Given the description of an element on the screen output the (x, y) to click on. 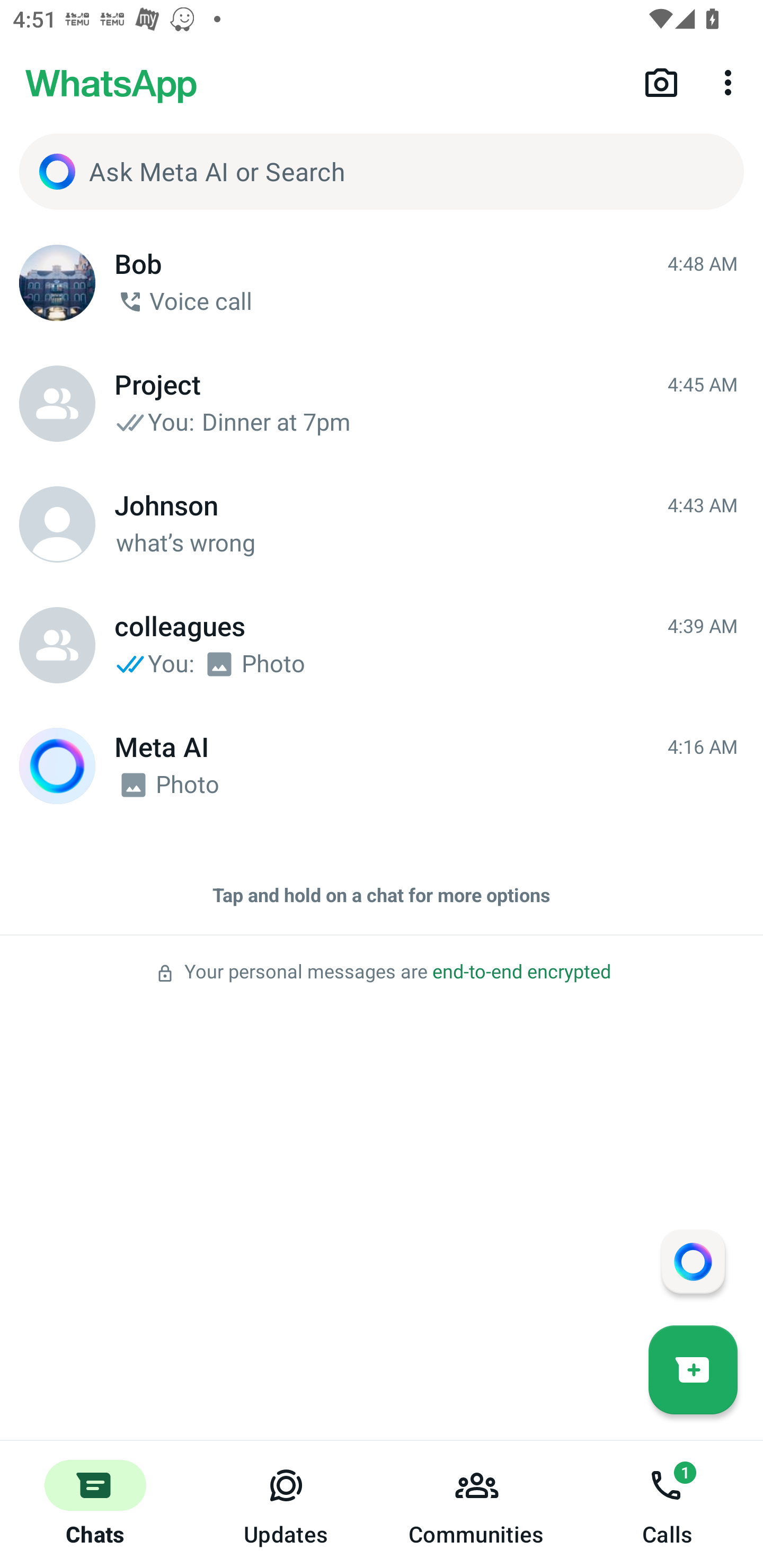
Camera (661, 81)
More options (731, 81)
Bob Bob 4:48 AM 4:48 AM Voice call (381, 282)
Bob (57, 282)
Project (57, 403)
Johnson Johnson 4:43 AM 4:43 AM what’s wrong (381, 524)
Johnson (57, 524)
colleagues colleagues 4:39 AM 4:39 AM You:  Photo (381, 644)
colleagues (57, 644)
Meta AI Meta AI 4:16 AM 4:16 AM Photo (381, 765)
Meta AI (57, 765)
end-to-end encrypted (521, 972)
Message your assistant (692, 1261)
New chat (692, 1369)
Updates (285, 1504)
Communities (476, 1504)
Calls, 1 new notification Calls (667, 1504)
